Given the description of an element on the screen output the (x, y) to click on. 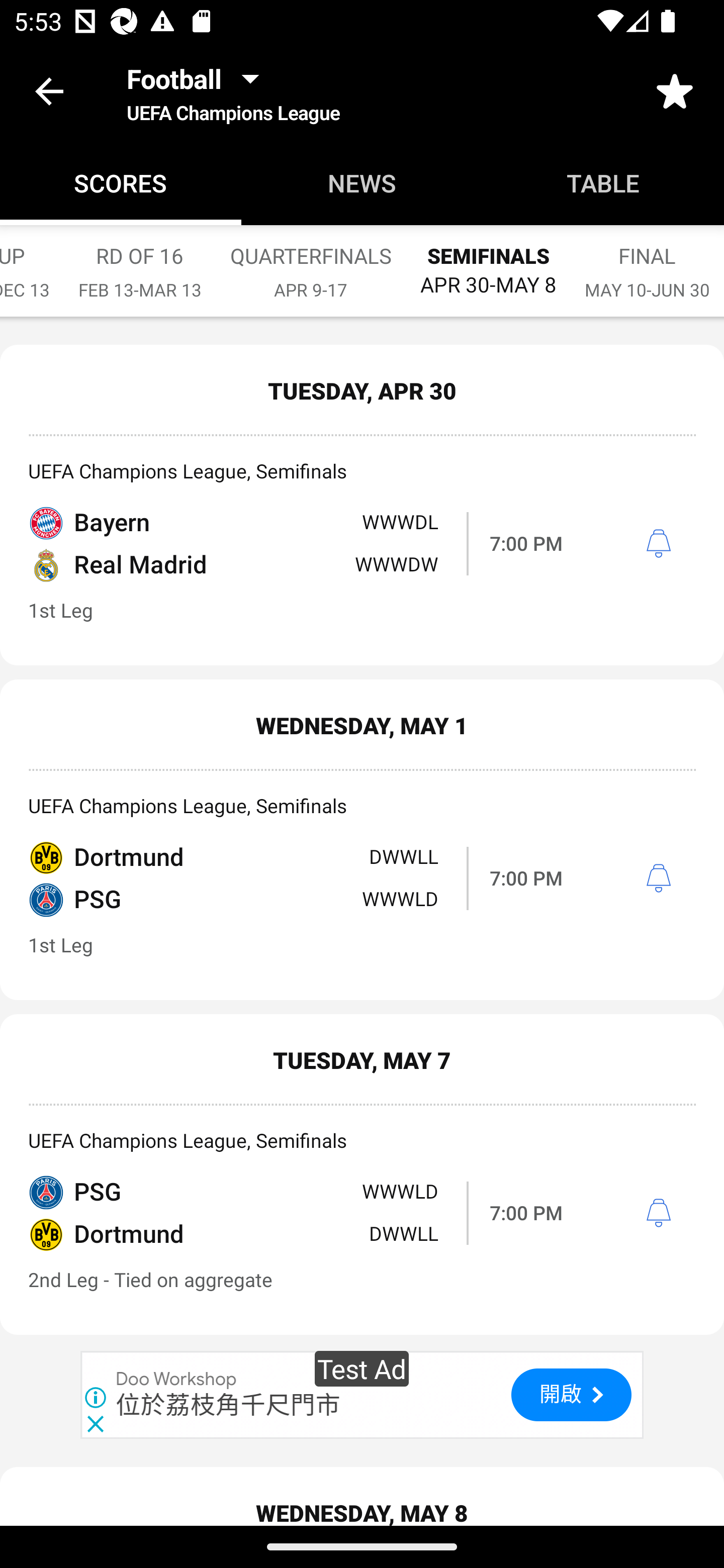
Football UEFA Champions League (232, 90)
Favorite toggle (674, 90)
News NEWS (361, 183)
Table TABLE (603, 183)
RD OF 16 FEB 13-MAR 13 (139, 262)
QUARTERFINALS APR 9-17 (310, 262)
SEMIFINALS APR 30-MAY 8 (487, 261)
FINAL MAY 10-JUN 30 (647, 262)
TUESDAY, APR 30 (362, 389)
í (658, 543)
WEDNESDAY, MAY 1 (362, 724)
í (658, 878)
TUESDAY, MAY 7 (362, 1059)
í (658, 1213)
Doo Workshop (176, 1379)
開啟 (570, 1394)
位於荔枝角千尺門市 (228, 1404)
WEDNESDAY, MAY 8 (362, 1496)
